Given the description of an element on the screen output the (x, y) to click on. 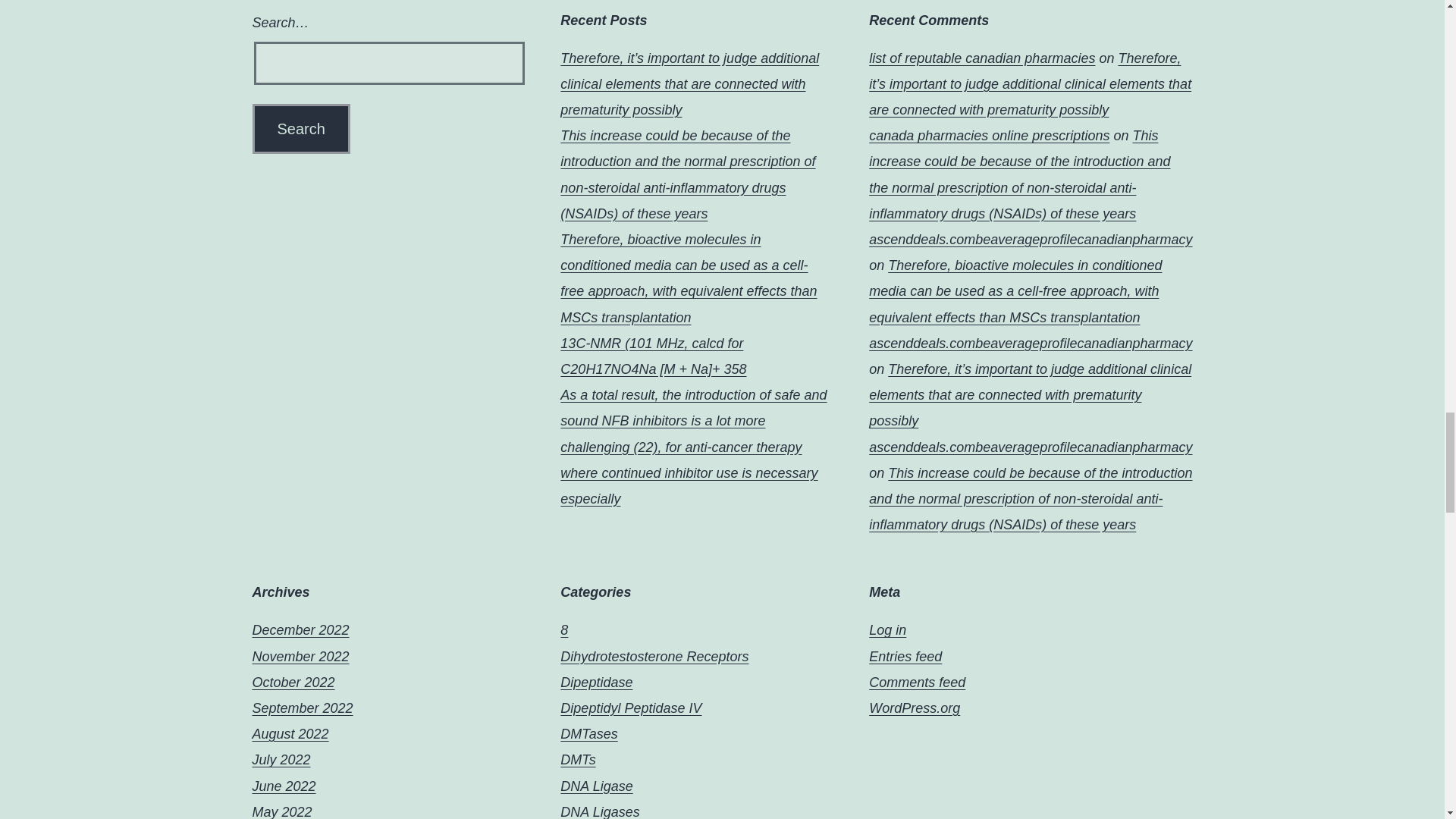
May 2022 (281, 811)
Search (300, 128)
list of reputable canadian pharmacies (981, 58)
ascenddeals.combeaverageprofilecanadianpharmacy (1030, 239)
canada pharmacies online prescriptions (989, 135)
October 2022 (292, 682)
ascenddeals.combeaverageprofilecanadianpharmacy (1030, 447)
June 2022 (283, 785)
ascenddeals.combeaverageprofilecanadianpharmacy (1030, 343)
Search (300, 128)
September 2022 (301, 708)
July 2022 (280, 759)
August 2022 (290, 734)
